Given the description of an element on the screen output the (x, y) to click on. 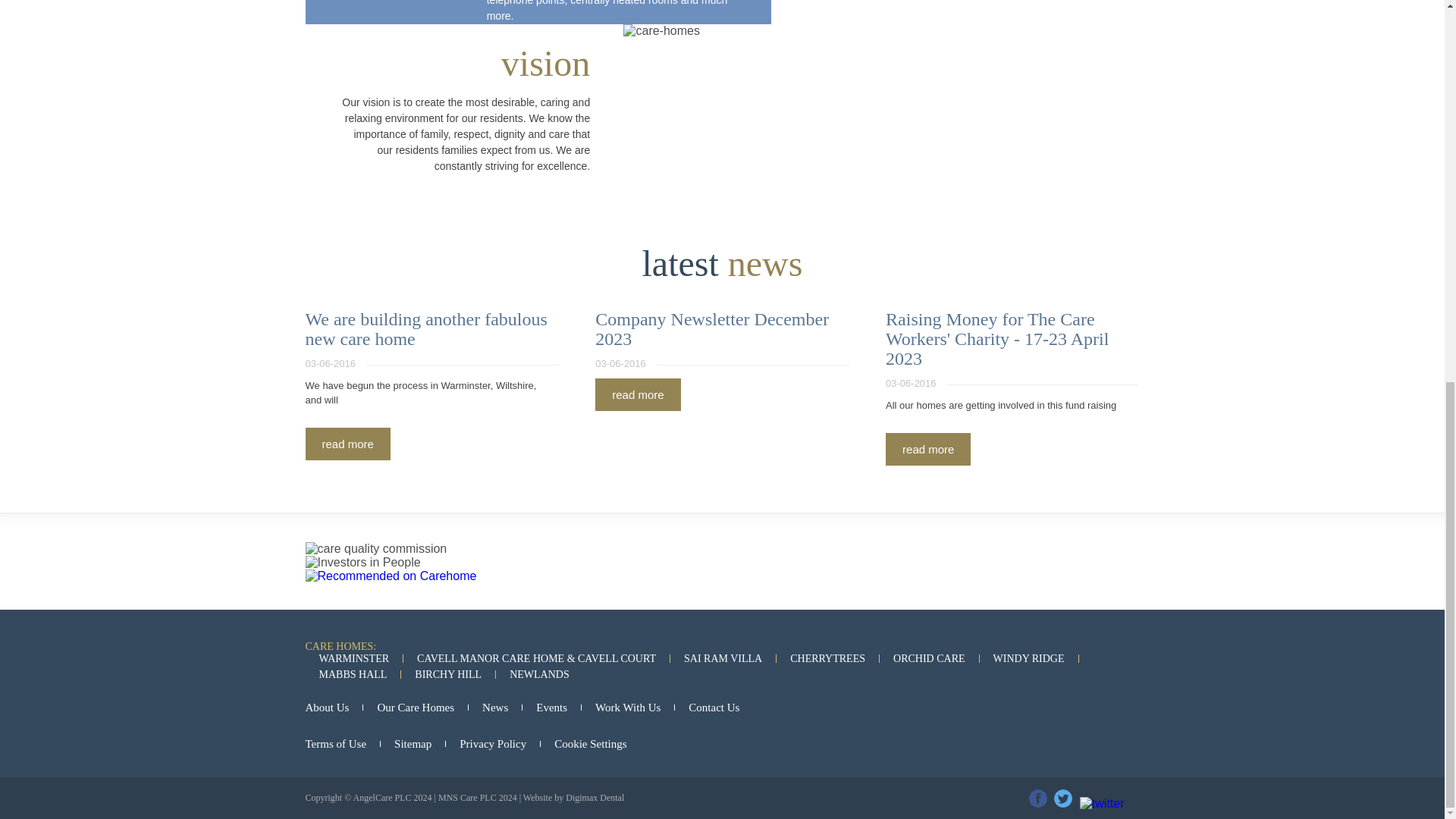
Company Newsletter December 2023 (711, 328)
read more (928, 449)
Company Newsletter December 2023 (711, 328)
We are building another fabulous new care home (425, 328)
We are building another fabulous new care home (425, 328)
read more (347, 443)
read more (637, 394)
We are building another fabulous new care home (347, 443)
